Given the description of an element on the screen output the (x, y) to click on. 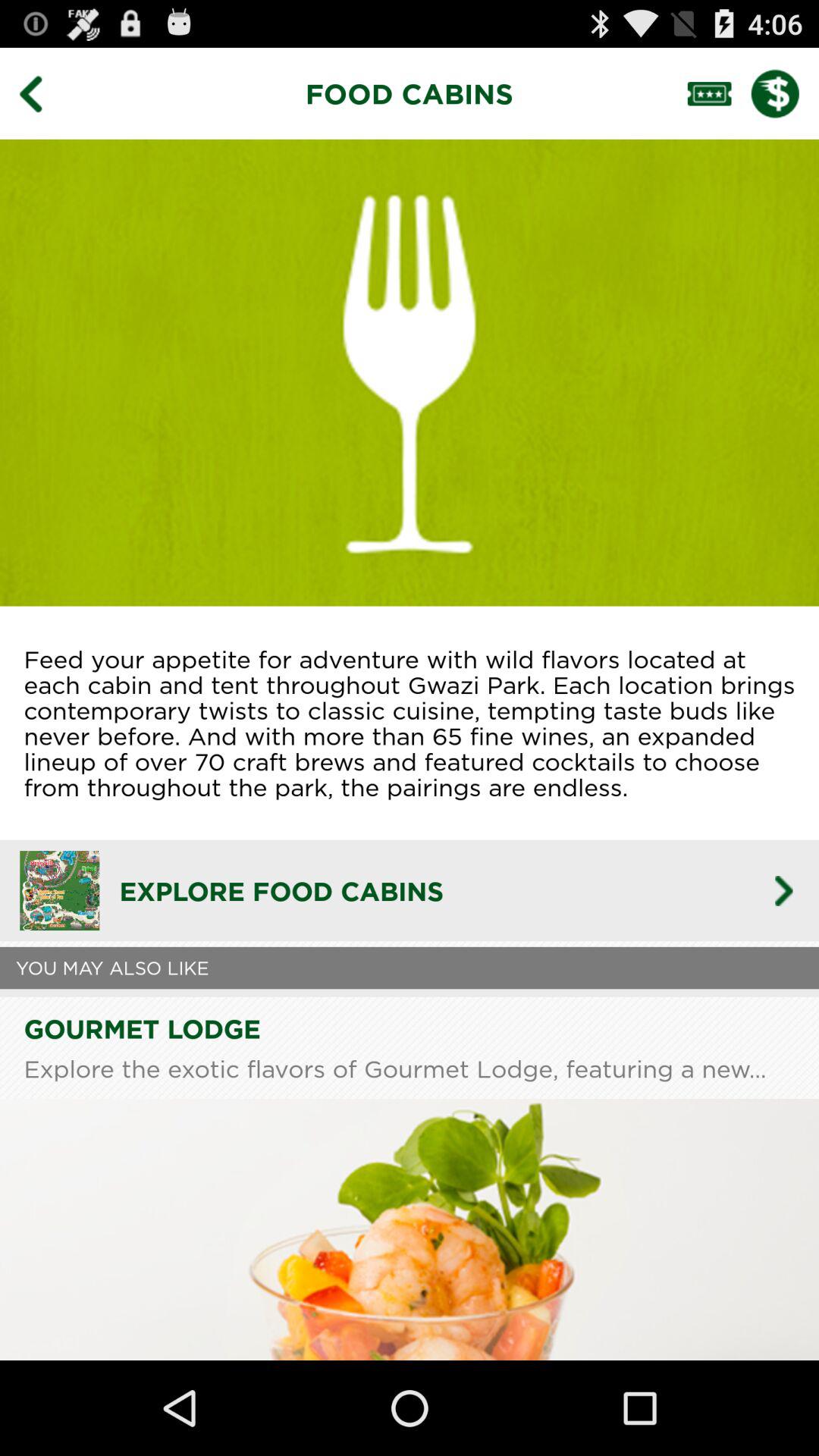
access ticket/pass (719, 93)
